Given the description of an element on the screen output the (x, y) to click on. 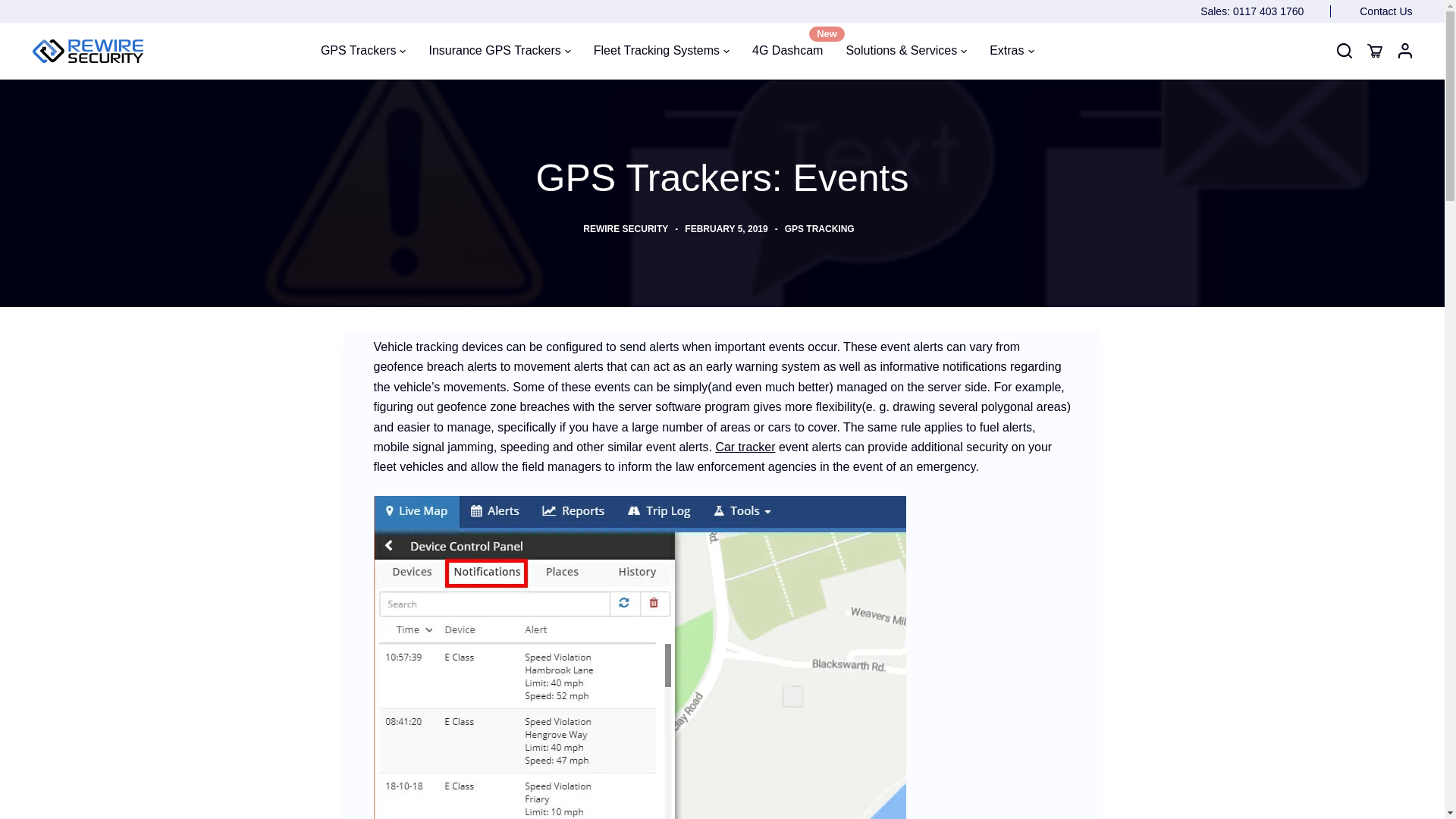
Contact Us (1385, 10)
Posts by Rewire Security (625, 228)
Sales: 0117 403 1760 (1264, 10)
GPS Trackers (368, 50)
Skip to content (15, 7)
Insurance GPS Trackers (498, 50)
